Given the description of an element on the screen output the (x, y) to click on. 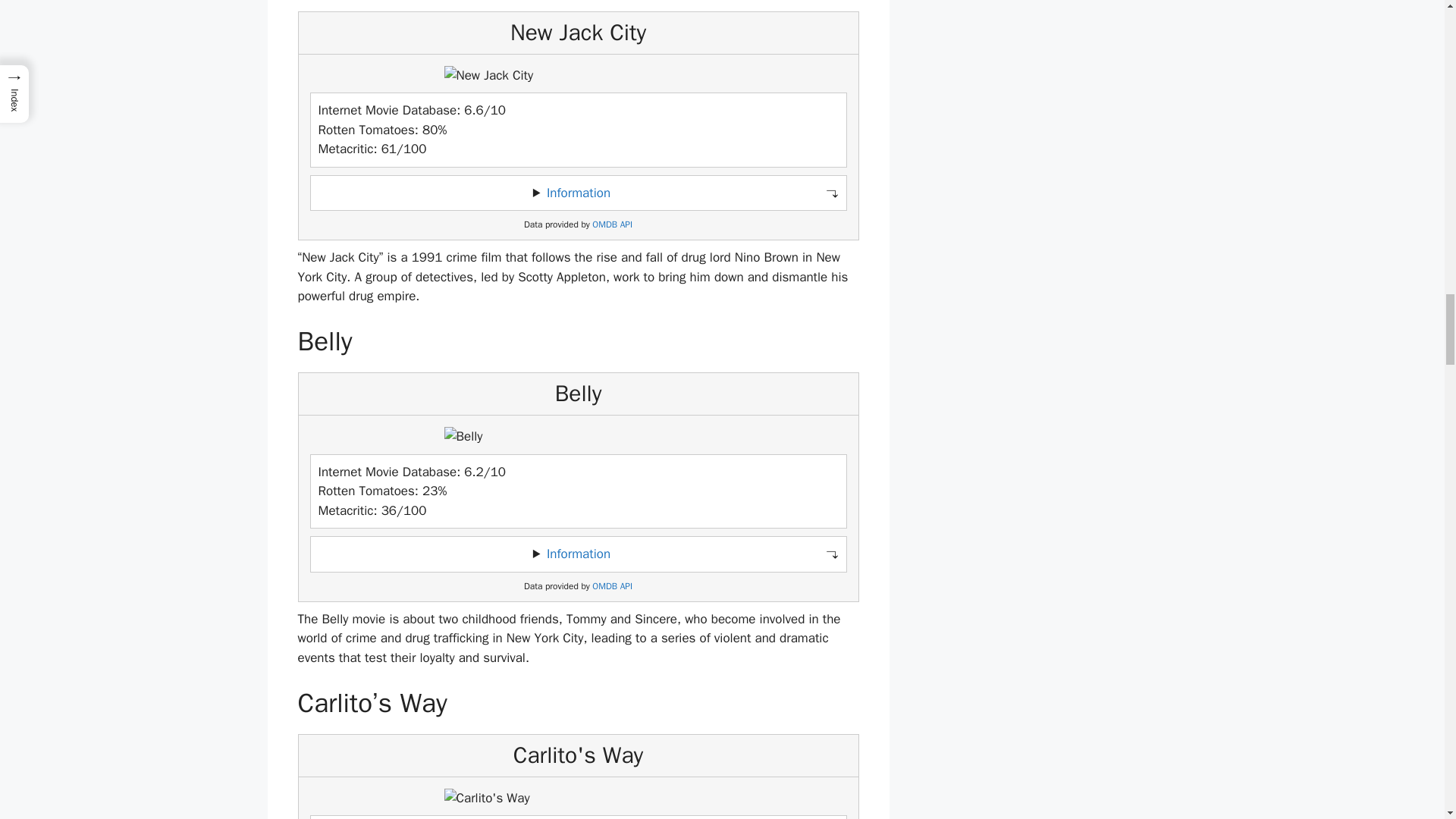
OMDB API (611, 224)
Toggle information (578, 193)
Open Movie Database API (611, 224)
OMDB API (611, 586)
Information (578, 192)
Information (578, 553)
